Given the description of an element on the screen output the (x, y) to click on. 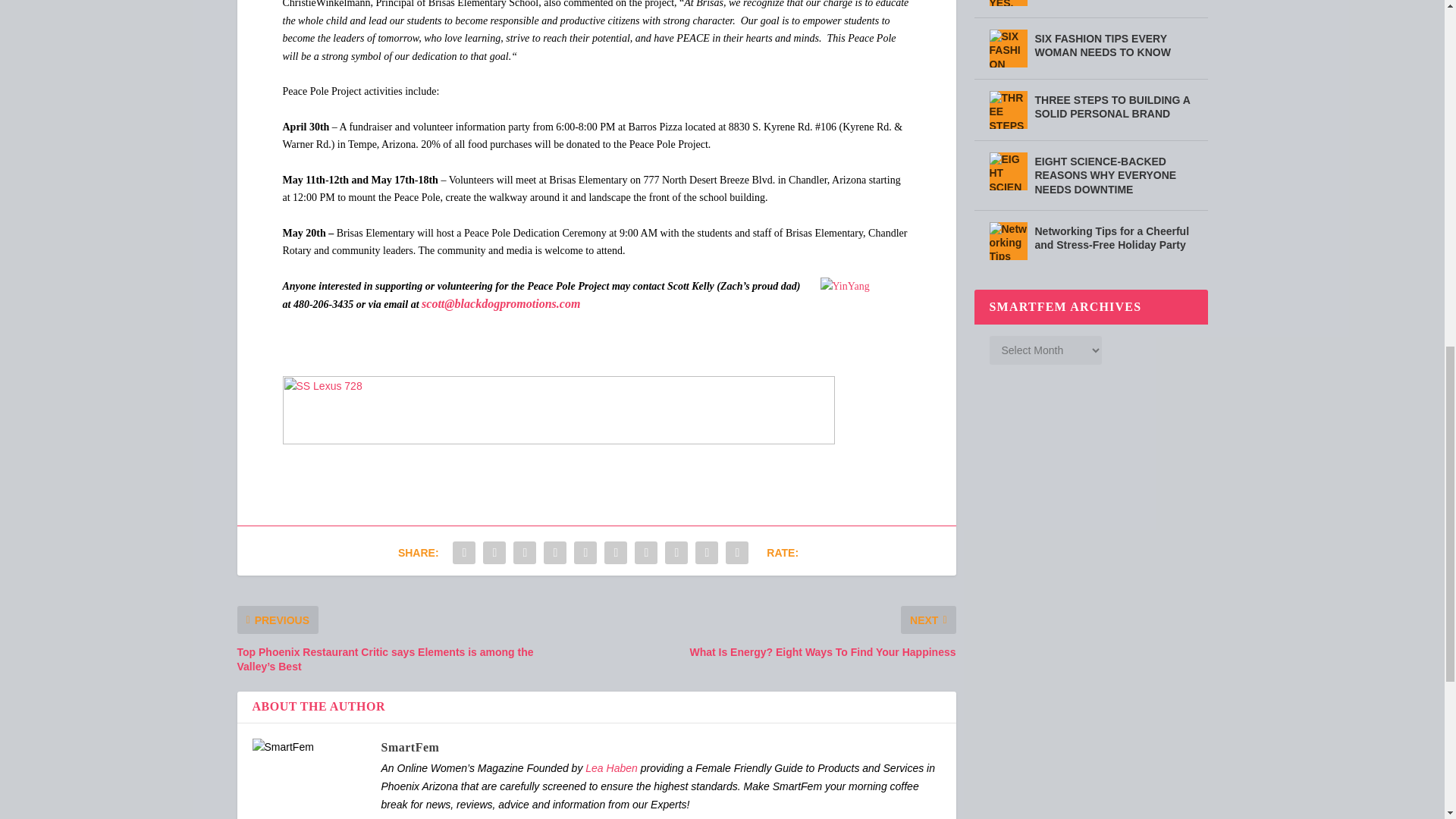
SS Lexus 728 (558, 440)
SS Lexus 728 (558, 409)
View all posts by SmartFem (409, 747)
